Given the description of an element on the screen output the (x, y) to click on. 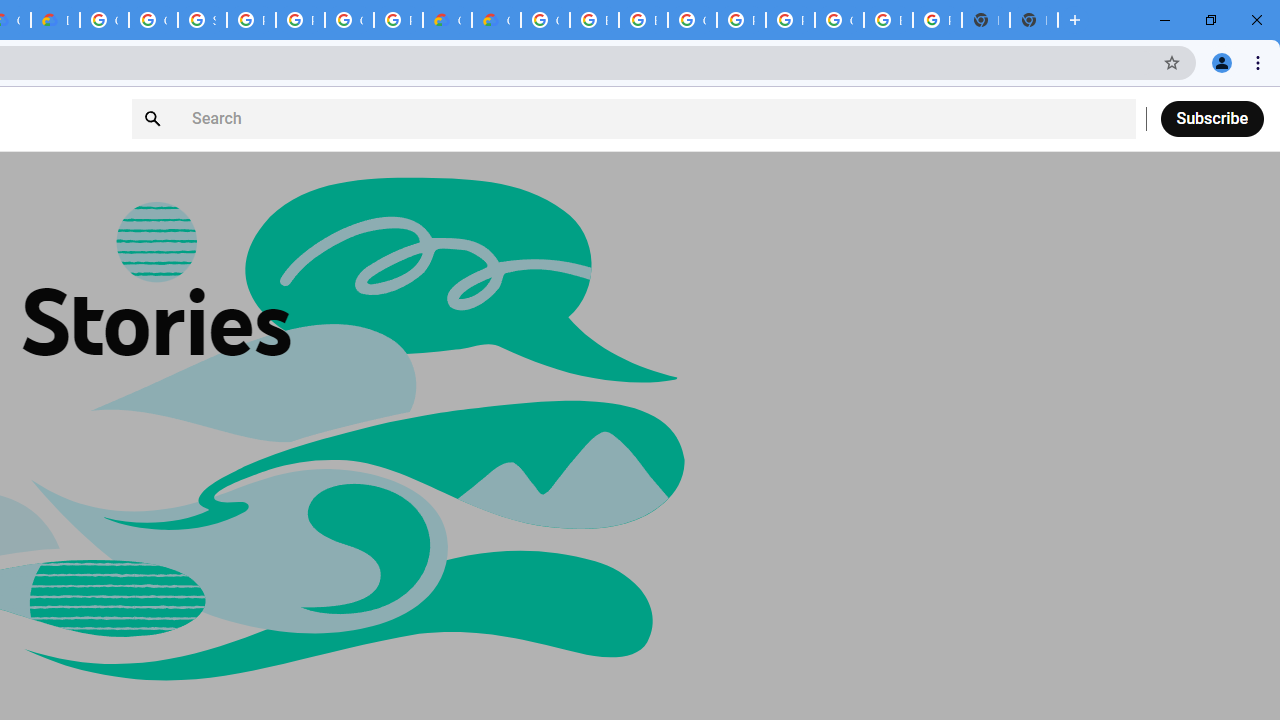
Customer Care | Google Cloud (447, 20)
New Tab (1033, 20)
Google Cloud Estimate Summary (496, 20)
Sign in - Google Accounts (201, 20)
Subscribe (1211, 118)
Browse Chrome as a guest - Computer - Google Chrome Help (643, 20)
Google Cloud Platform (692, 20)
Submit Search (155, 119)
Google Cloud Platform (545, 20)
